Given the description of an element on the screen output the (x, y) to click on. 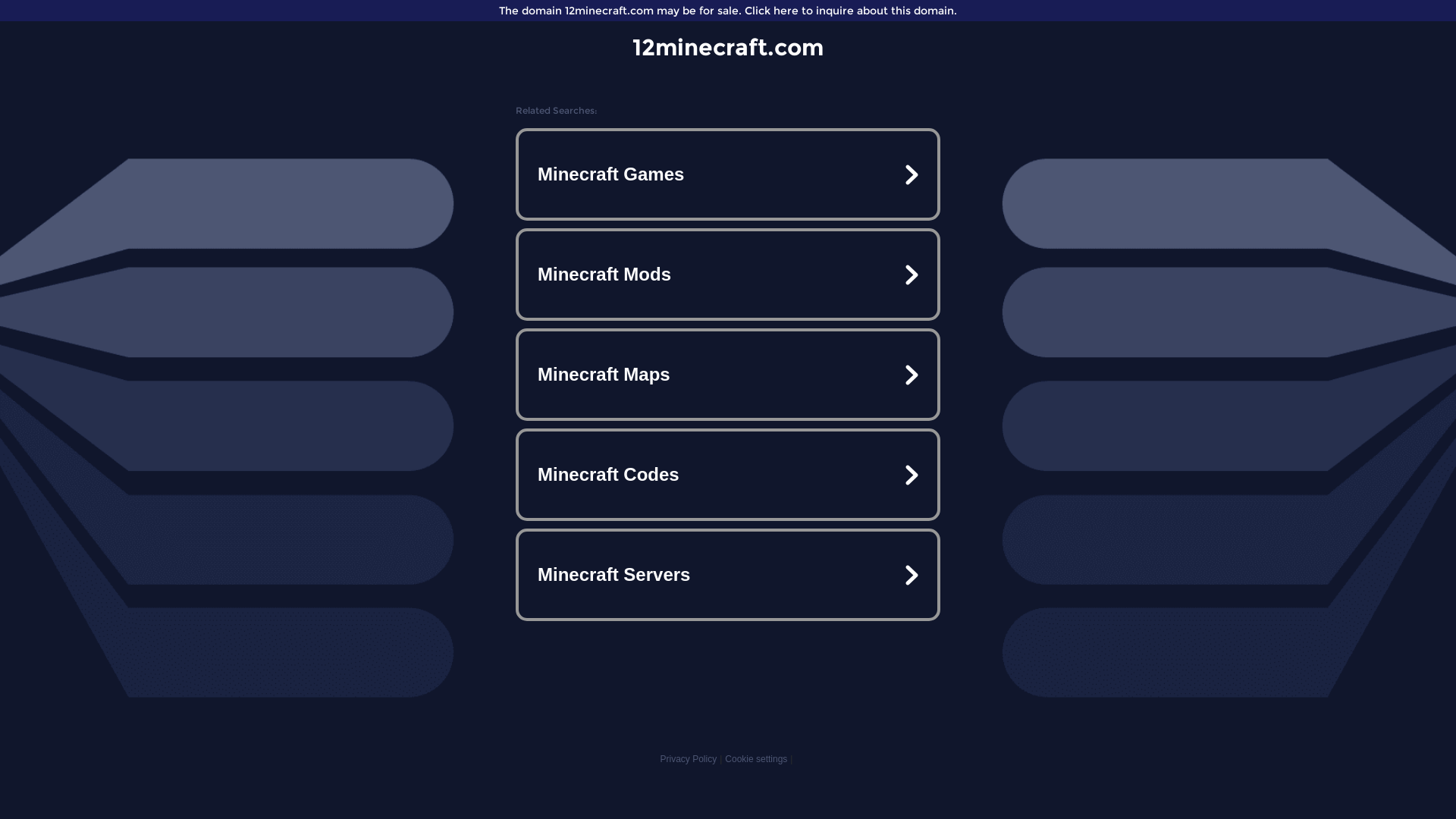
Minecraft Maps Element type: text (727, 374)
Minecraft Servers Element type: text (727, 574)
Cookie settings Element type: text (755, 758)
Minecraft Games Element type: text (727, 174)
Privacy Policy Element type: text (687, 758)
12minecraft.com Element type: text (727, 47)
Minecraft Codes Element type: text (727, 474)
Minecraft Mods Element type: text (727, 274)
